Given the description of an element on the screen output the (x, y) to click on. 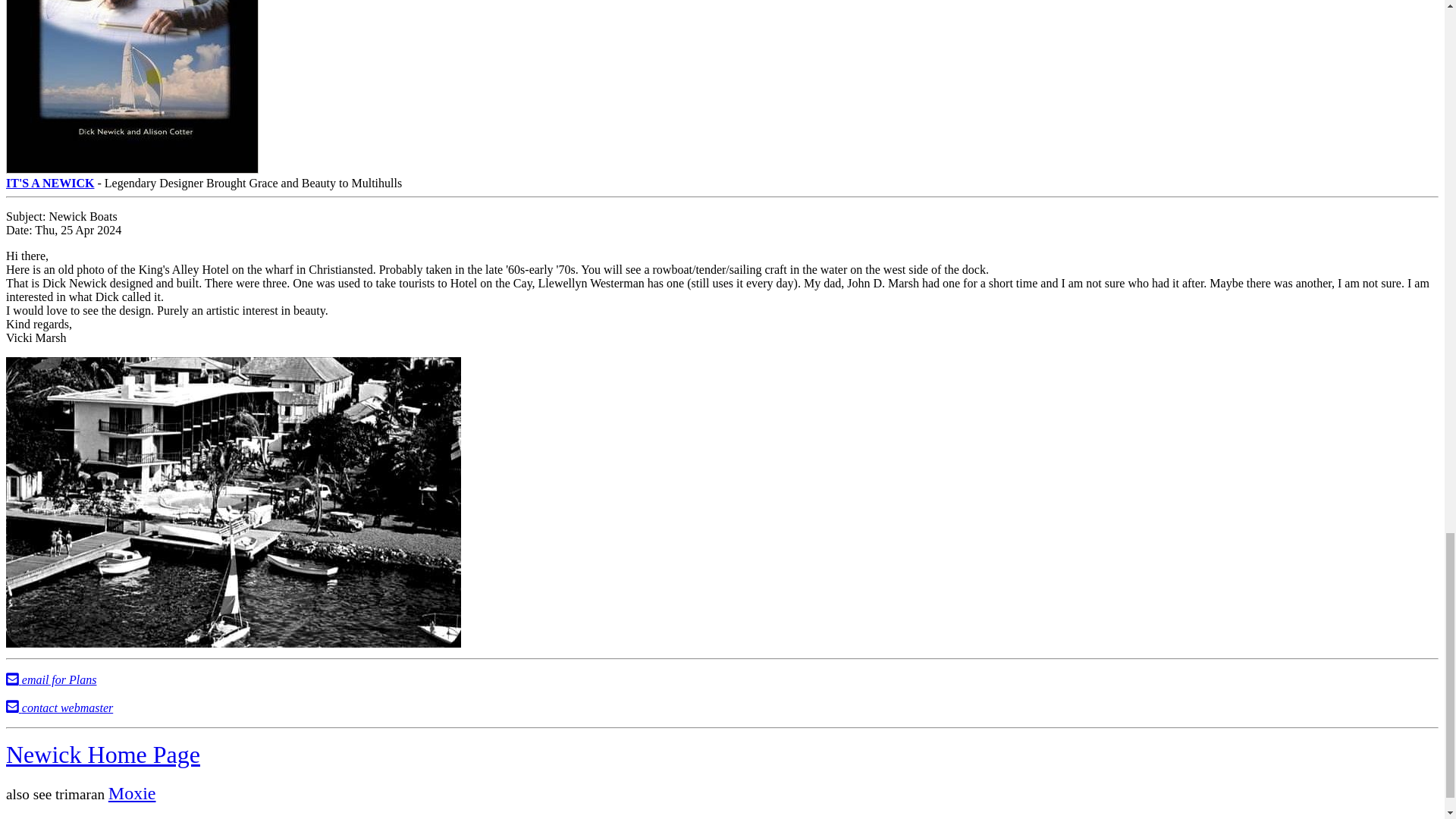
contact webmaster (59, 707)
email for Plans (50, 679)
Moxie (131, 792)
IT'S A NEWICK (132, 175)
Available at Amazon.com (132, 175)
Newick Home Page (102, 754)
